Given the description of an element on the screen output the (x, y) to click on. 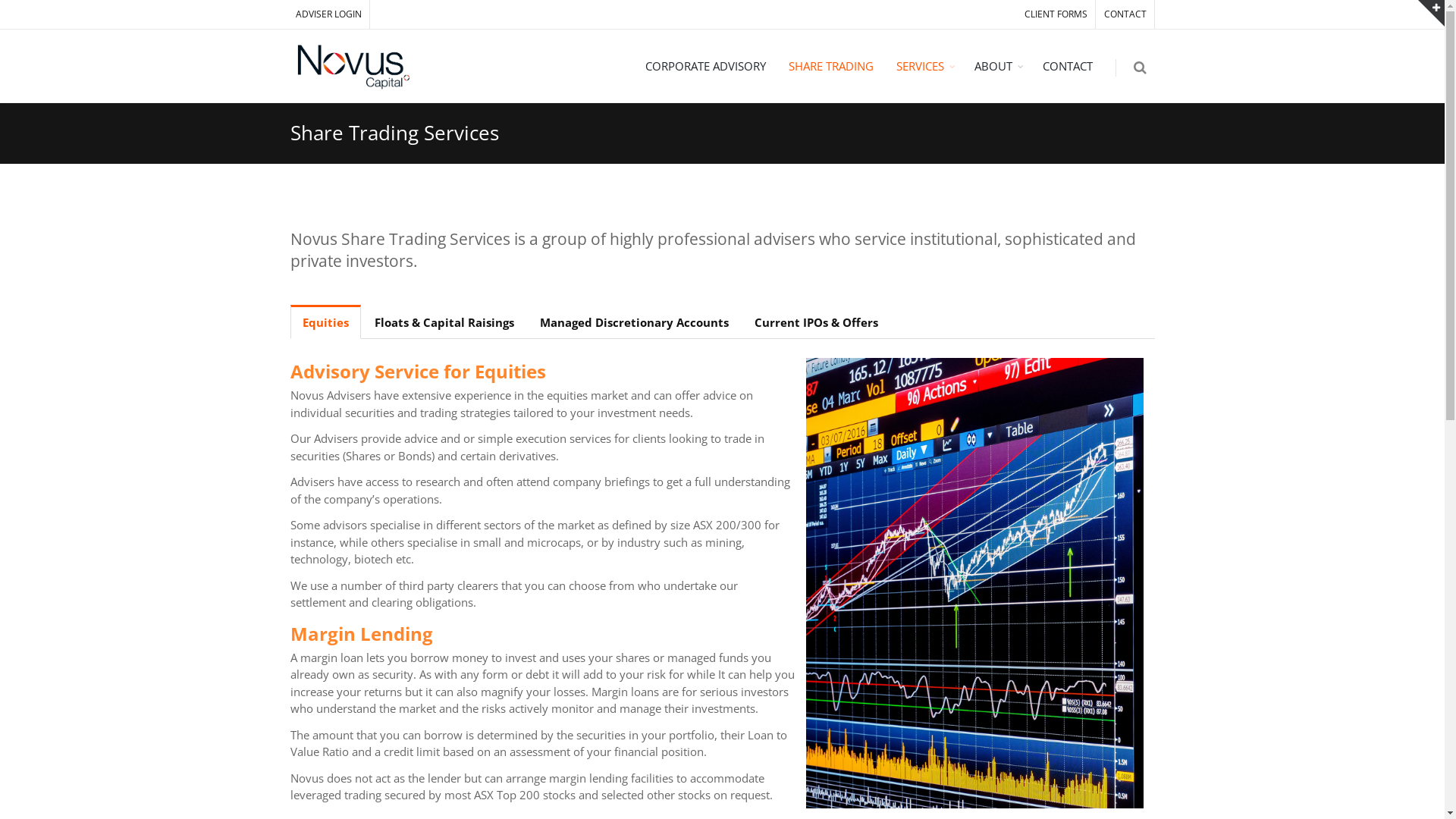
Equities Element type: text (324, 321)
SERVICES Element type: text (923, 65)
ADVISER LOGIN Element type: text (328, 14)
Managed Discretionary Accounts Element type: text (633, 321)
CLIENT FORMS Element type: text (1055, 14)
Current IPOs & Offers Element type: text (815, 321)
CONTACT Element type: text (1125, 14)
Floats & Capital Raisings Element type: text (444, 321)
CONTACT Element type: text (1067, 65)
Back to top Element type: hover (1431, 13)
CORPORATE ADVISORY Element type: text (705, 65)
SHARE TRADING Element type: text (830, 65)
ABOUT Element type: text (997, 65)
